Given the description of an element on the screen output the (x, y) to click on. 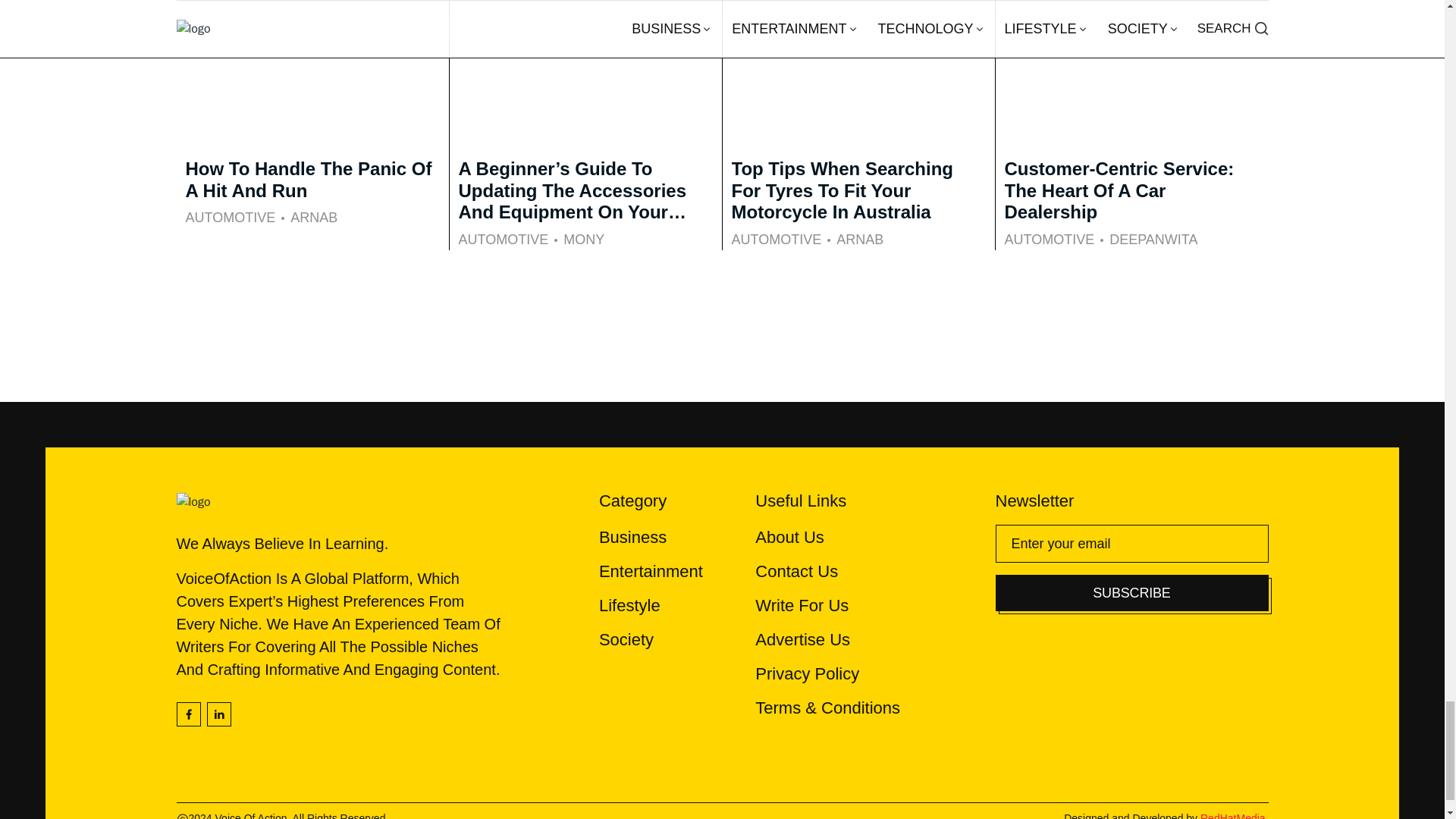
Automotive (1049, 240)
Automotive (503, 240)
Automotive (775, 240)
Subscribe (1131, 592)
Automotive (229, 218)
